Given the description of an element on the screen output the (x, y) to click on. 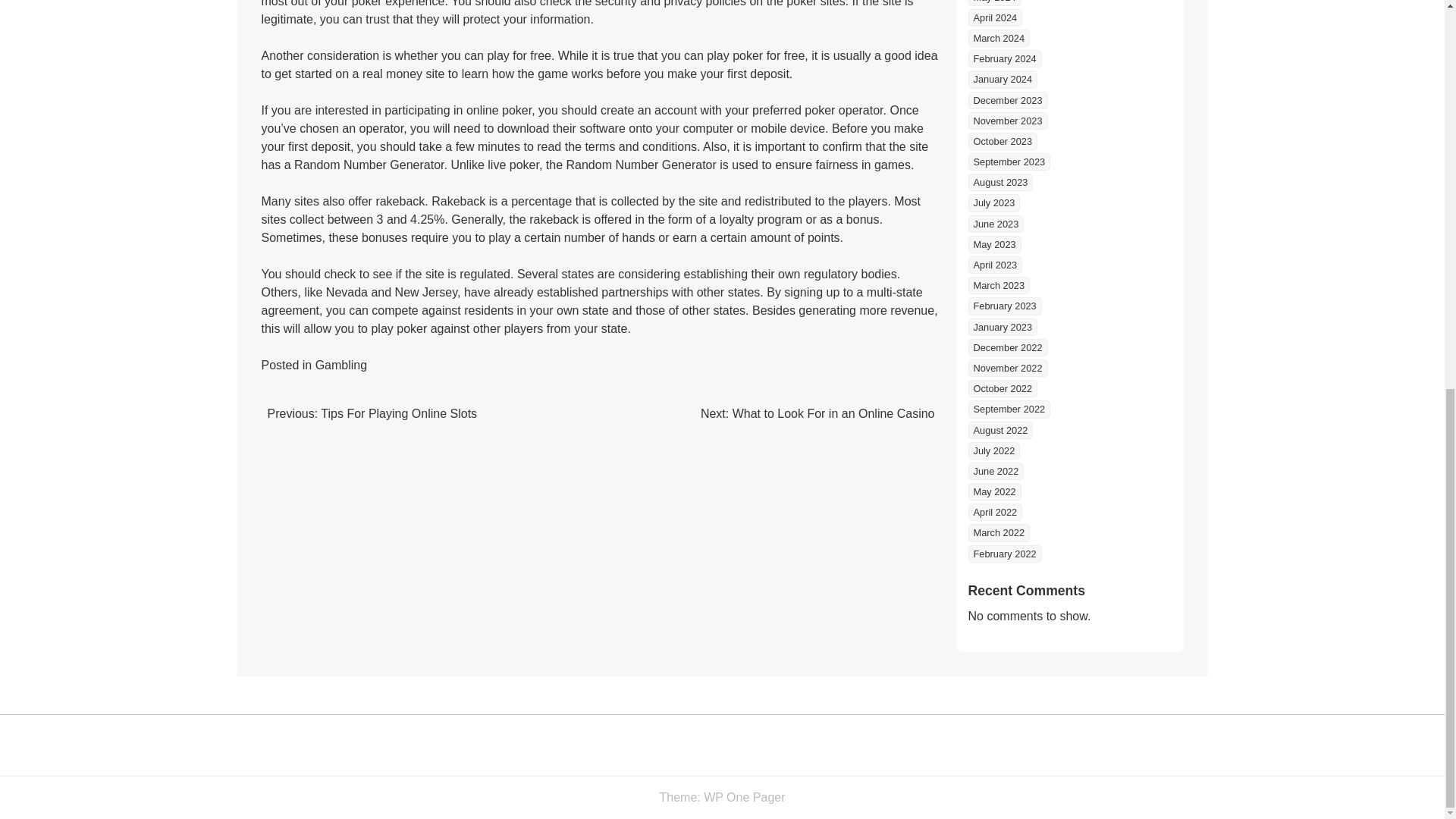
October 2022 (1002, 388)
June 2023 (995, 223)
June 2022 (995, 470)
March 2023 (998, 285)
July 2022 (994, 450)
August 2022 (1000, 429)
May 2024 (994, 2)
Gambling (340, 364)
July 2023 (994, 202)
August 2023 (1000, 181)
March 2024 (998, 37)
May 2023 (994, 244)
Next: What to Look For in an Online Casino (817, 413)
April 2024 (995, 17)
April 2023 (995, 264)
